Given the description of an element on the screen output the (x, y) to click on. 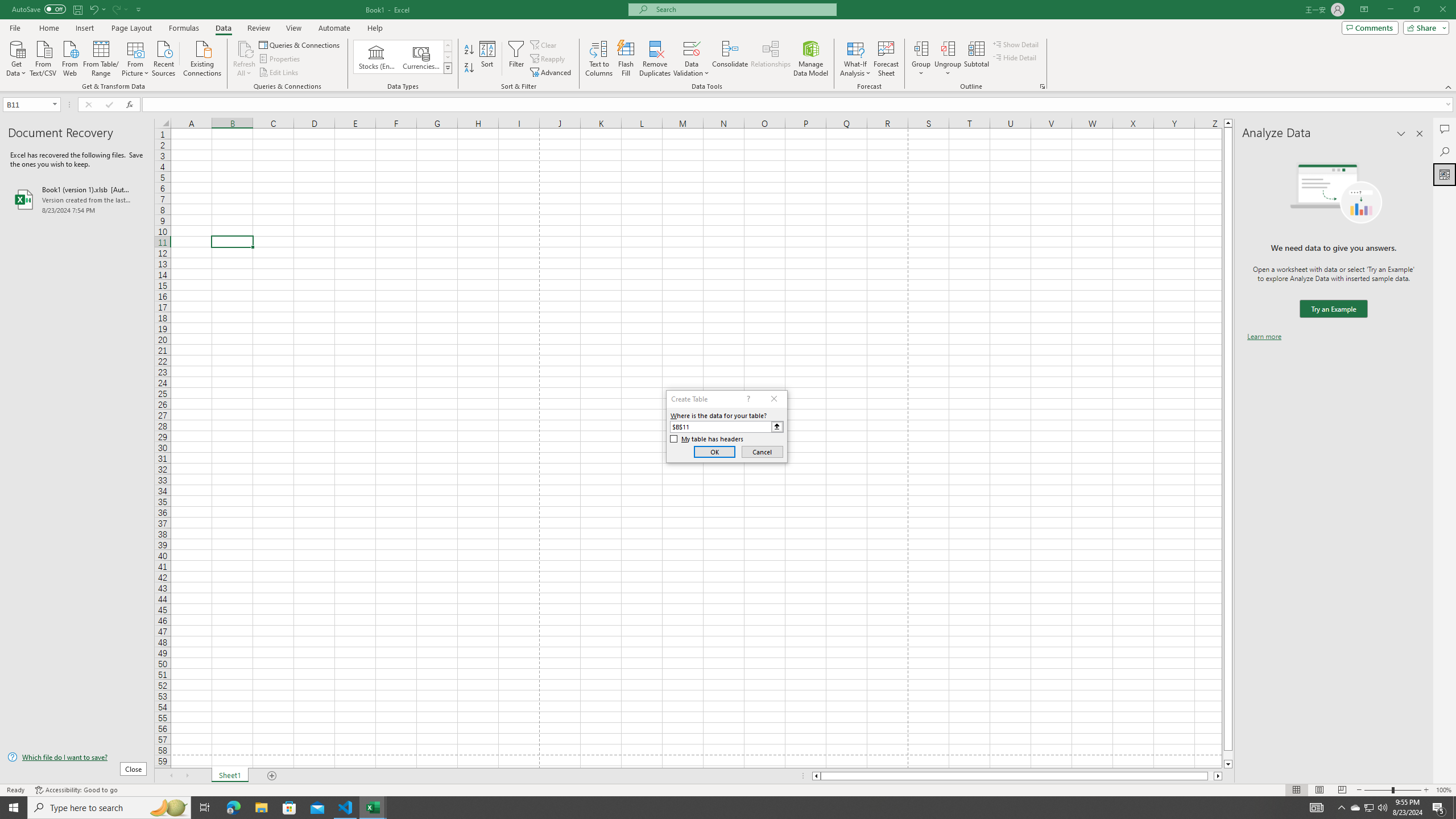
Recent Sources (163, 57)
Queries & Connections (300, 44)
Hide Detail (1014, 56)
Subtotal (976, 58)
Sort... (487, 58)
Properties (280, 58)
